Given the description of an element on the screen output the (x, y) to click on. 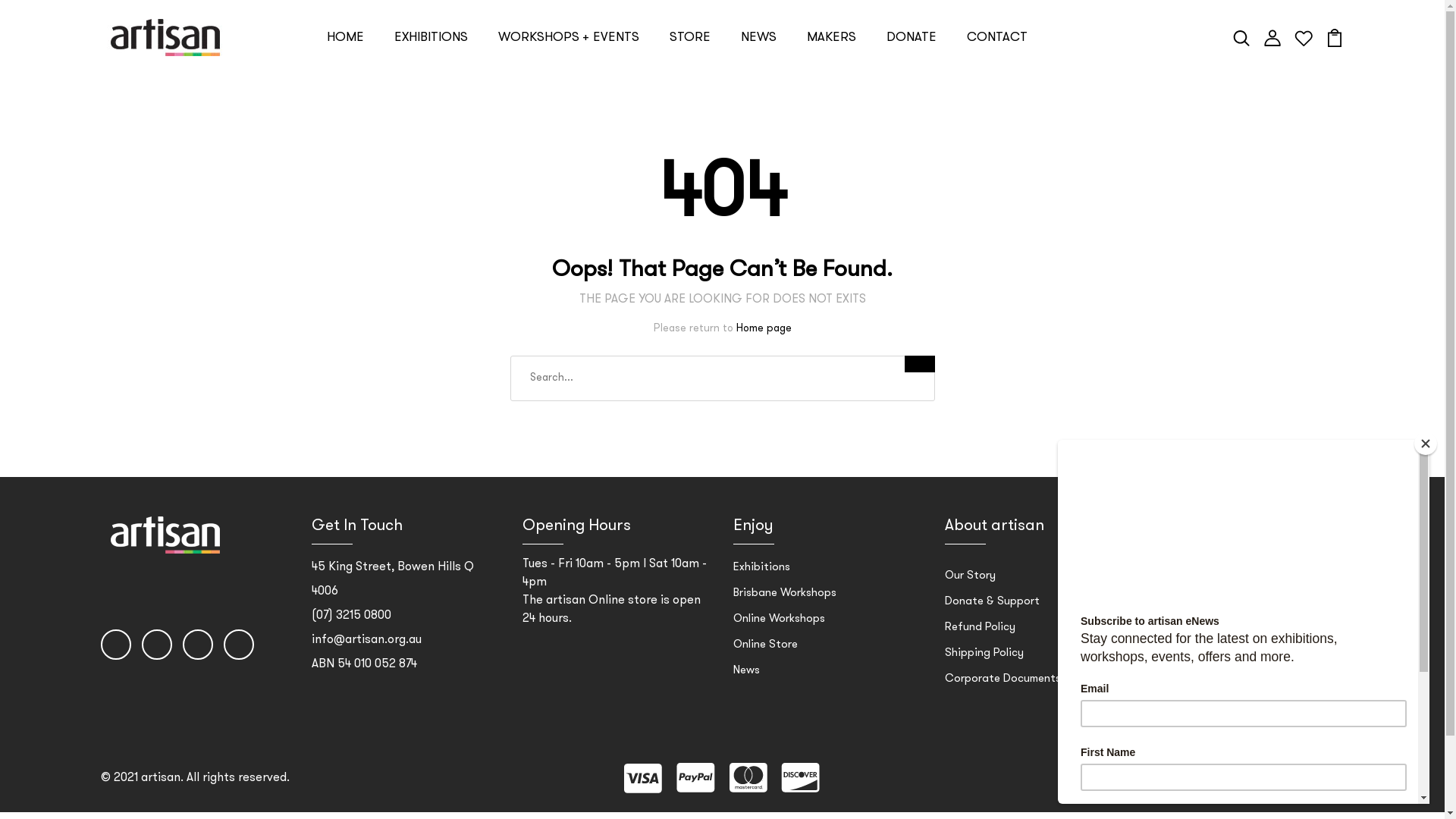
artisan Online store Element type: text (601, 633)
CONTACT Element type: text (996, 71)
NEWS Element type: text (758, 71)
info@artisan.org.au Element type: text (366, 673)
Online Store Element type: text (765, 678)
(07) 3215 0800 Element type: text (351, 649)
Online Workshops Element type: text (779, 652)
Refund Policy Element type: text (979, 660)
MAKERS Element type: text (831, 71)
Home page Element type: text (762, 361)
45 King Street, Bowen Hills Q 4006 Element type: text (392, 612)
News Element type: text (746, 703)
HOME Element type: text (345, 71)
WORKSHOPS + EVENTS Element type: text (568, 71)
STORE Element type: text (689, 71)
image/svg+xml Element type: text (1241, 70)
Exhibitions Element type: text (761, 600)
image/svg+xml Element type: text (1334, 70)
EXHIBITIONS Element type: text (430, 71)
Log In Element type: text (722, 481)
Donate & Support Element type: text (991, 634)
Shipping Policy Element type: text (983, 686)
Brisbane Workshops Element type: text (784, 626)
image/svg+xml Element type: text (1303, 70)
register Element type: text (722, 743)
DONATE Element type: text (911, 71)
Our Story Element type: text (969, 609)
Corporate Documents Element type: text (1002, 712)
image/svg+xml Element type: text (1272, 70)
